Given the description of an element on the screen output the (x, y) to click on. 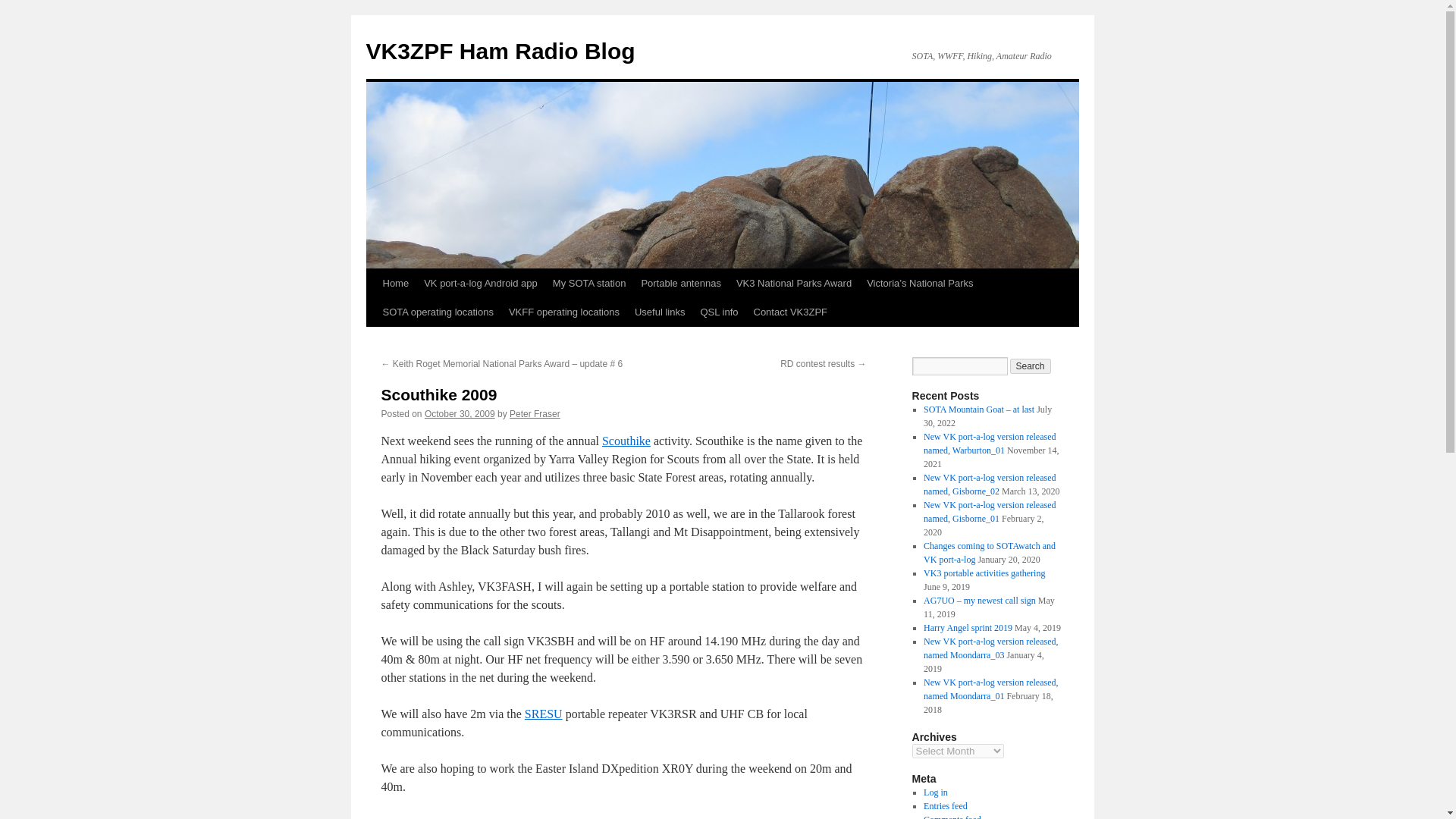
October 30, 2009 (460, 413)
Useful links (660, 312)
Entries feed (945, 805)
SRESU (543, 713)
Changes coming to SOTAwatch and VK port-a-log (989, 552)
Search (1030, 365)
QSL info (719, 312)
View all posts by Peter Fraser (534, 413)
VK port-a-log Android app (480, 283)
SOTA operating locations (437, 312)
Portable antennas (681, 283)
Contact VK3ZPF (790, 312)
Peter Fraser (534, 413)
9:36 pm (460, 413)
Scouthike (626, 440)
